Given the description of an element on the screen output the (x, y) to click on. 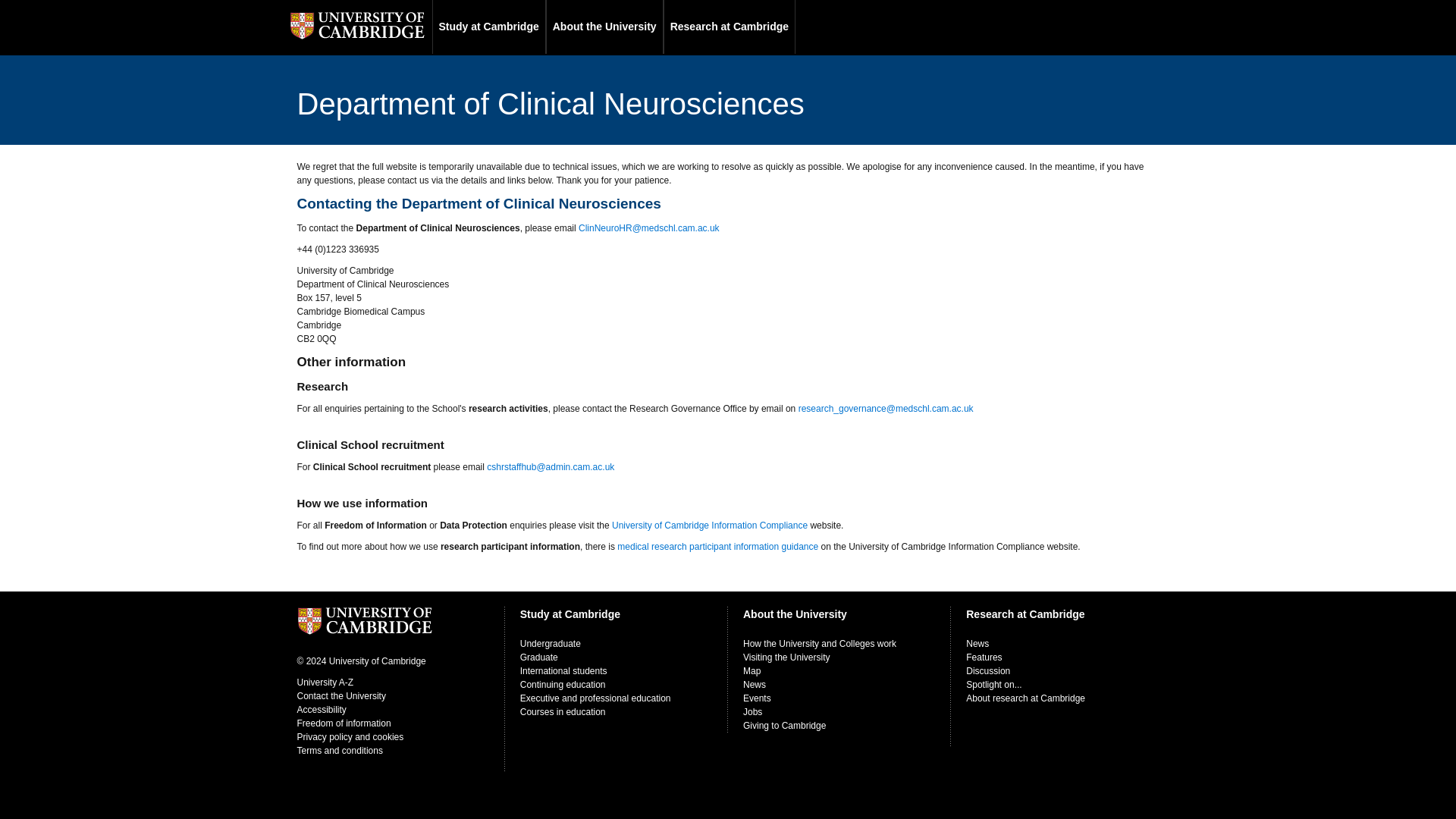
Visiting the University (785, 656)
Research at Cambridge (728, 27)
Terms and conditions (339, 750)
Spotlight on... (994, 684)
University A-Z (325, 682)
Map (751, 670)
Accessibility (321, 709)
University of Cambridge Information Compliance (709, 525)
Executive and professional education (595, 697)
Continuing education (562, 684)
News (753, 684)
medical research participant information guidance (717, 546)
Undergraduate (549, 643)
Events (756, 697)
